Given the description of an element on the screen output the (x, y) to click on. 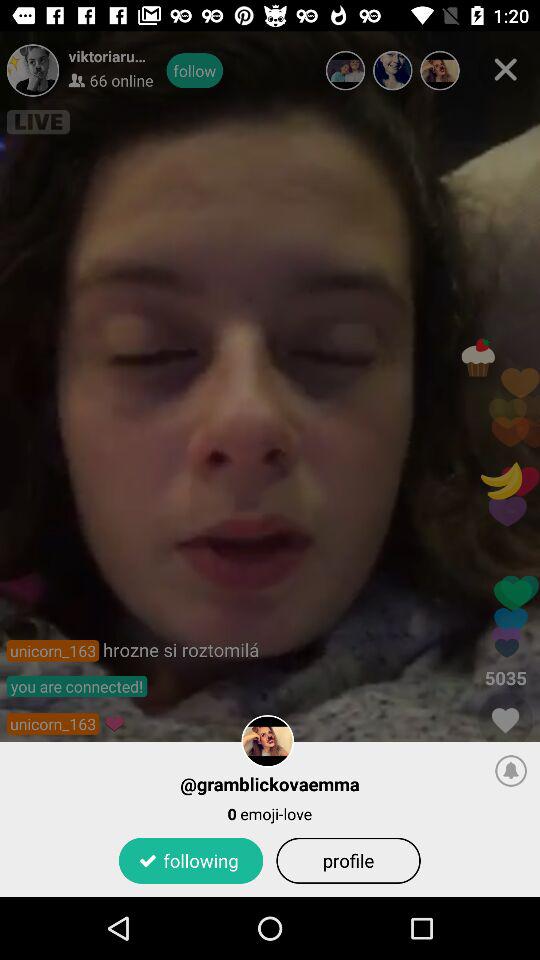
open the icon to the left of profile app (190, 860)
